Given the description of an element on the screen output the (x, y) to click on. 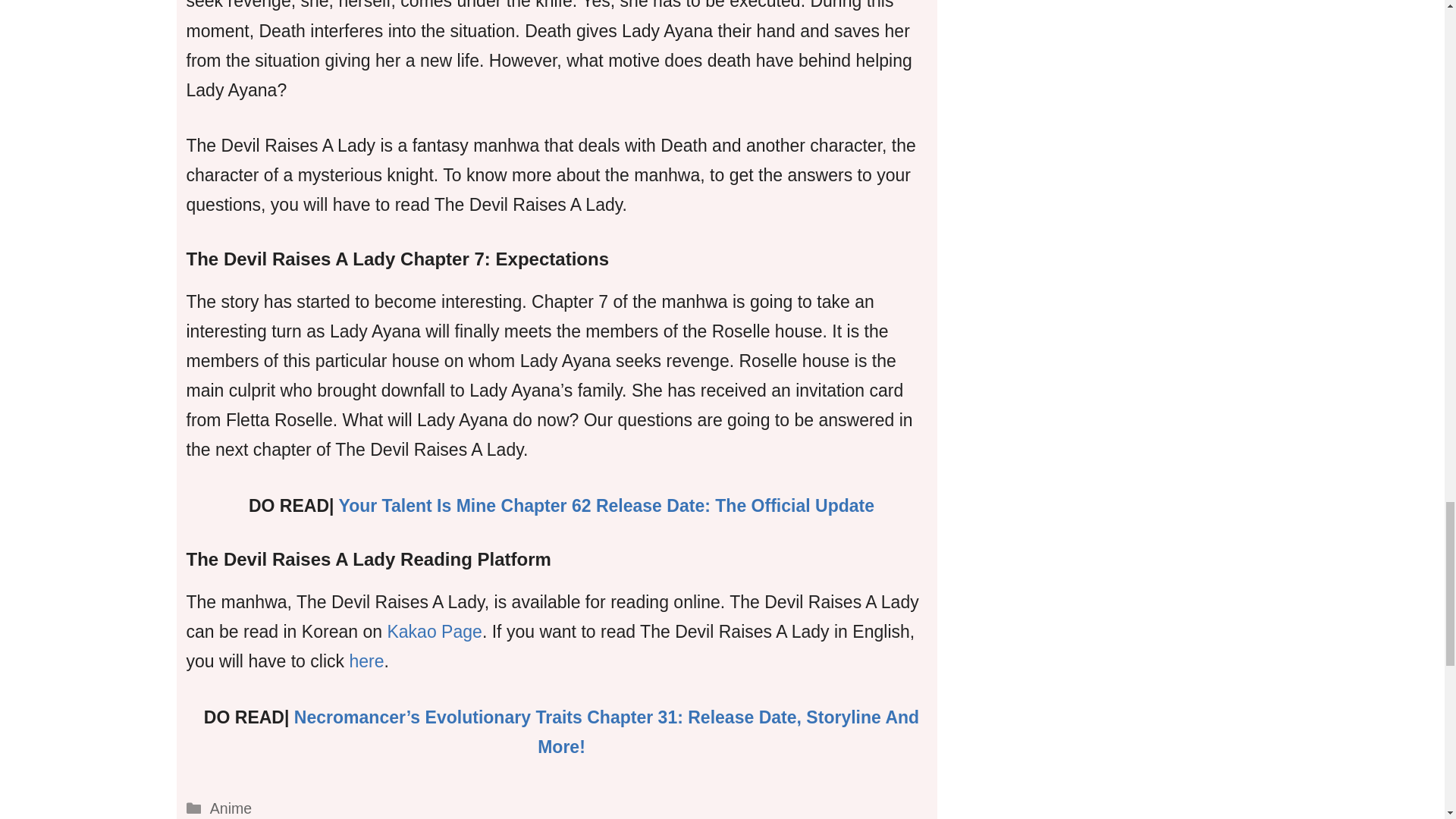
Kakao Page (434, 631)
here (366, 660)
Anime (230, 808)
